Given the description of an element on the screen output the (x, y) to click on. 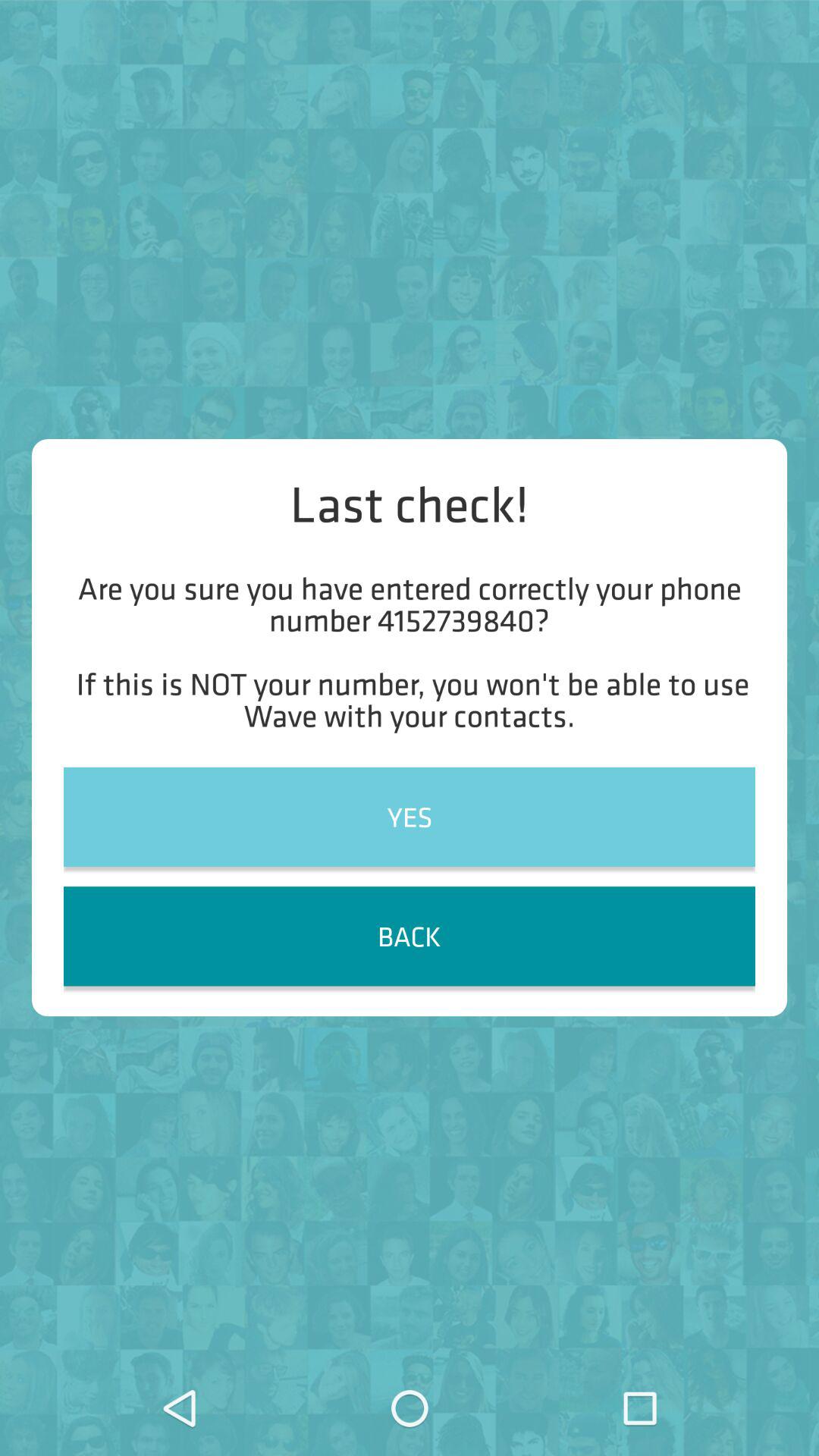
turn on the back icon (409, 936)
